Given the description of an element on the screen output the (x, y) to click on. 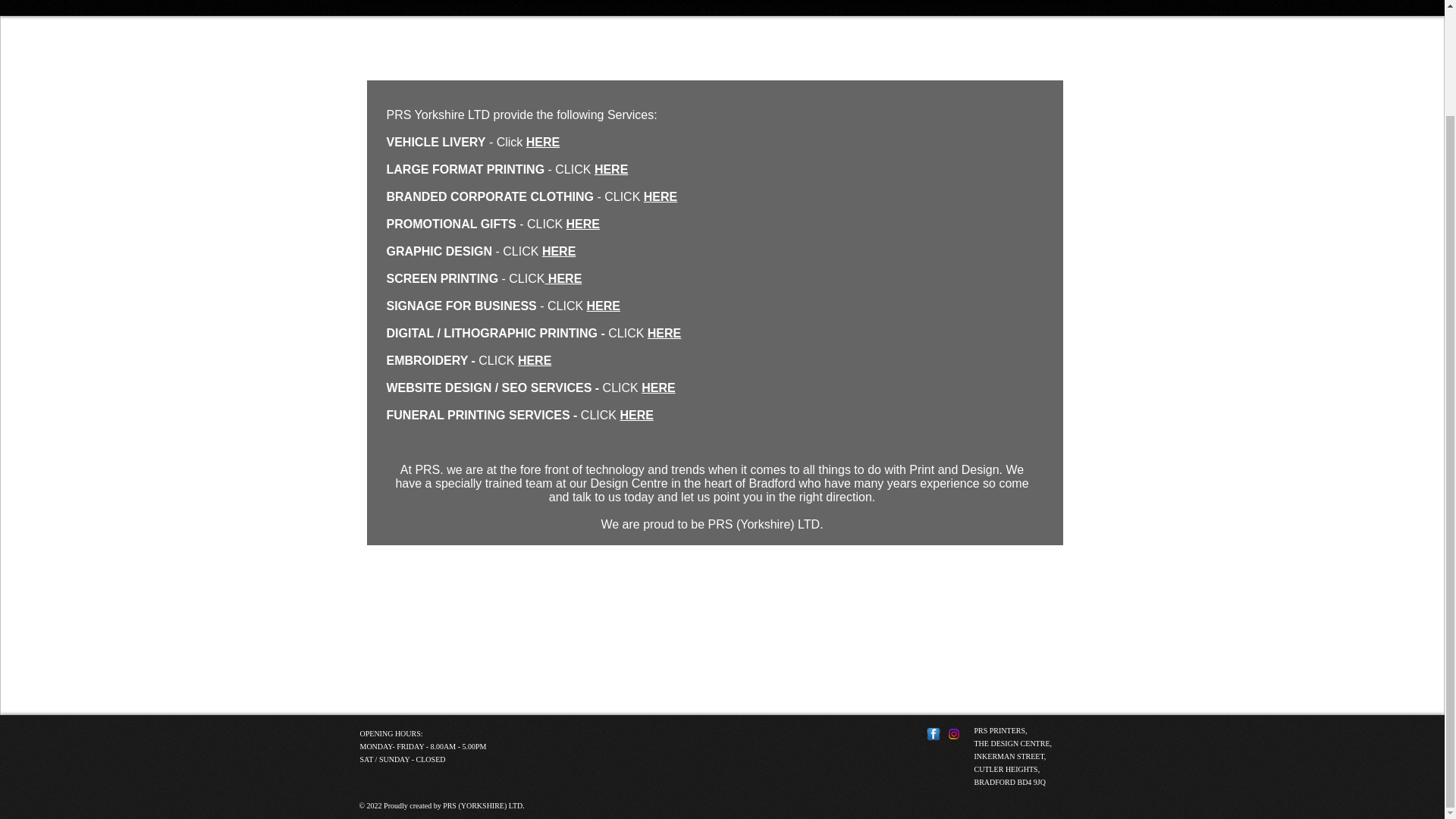
HERE (562, 278)
HERE (603, 305)
HERE (660, 196)
HERE (582, 223)
HERE (542, 141)
HERE (610, 169)
HERE (664, 332)
HERE (558, 250)
